Given the description of an element on the screen output the (x, y) to click on. 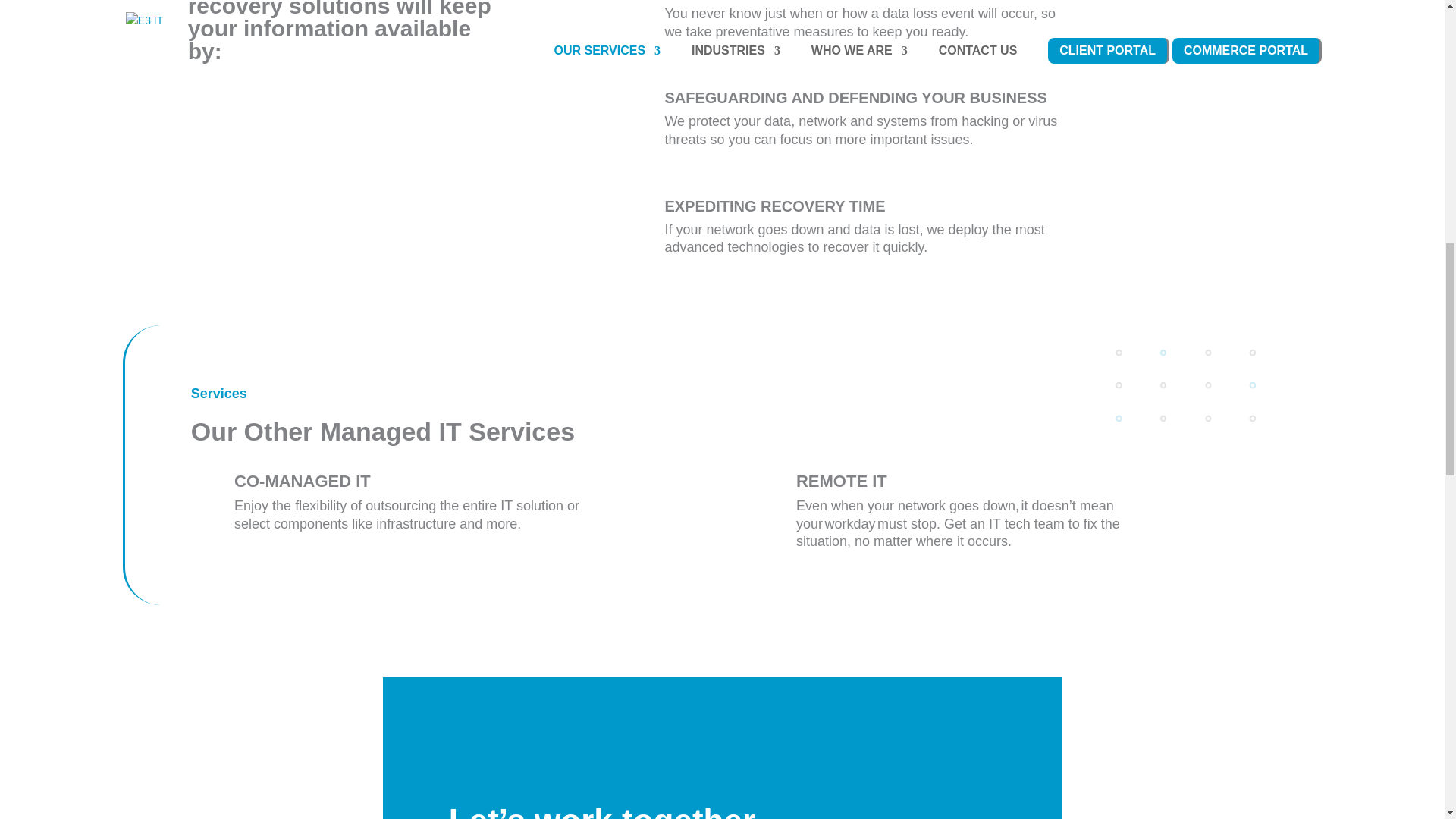
CO-MANAGED IT (302, 480)
e3-hero-dots (1185, 385)
REMOTE IT (841, 480)
